Given the description of an element on the screen output the (x, y) to click on. 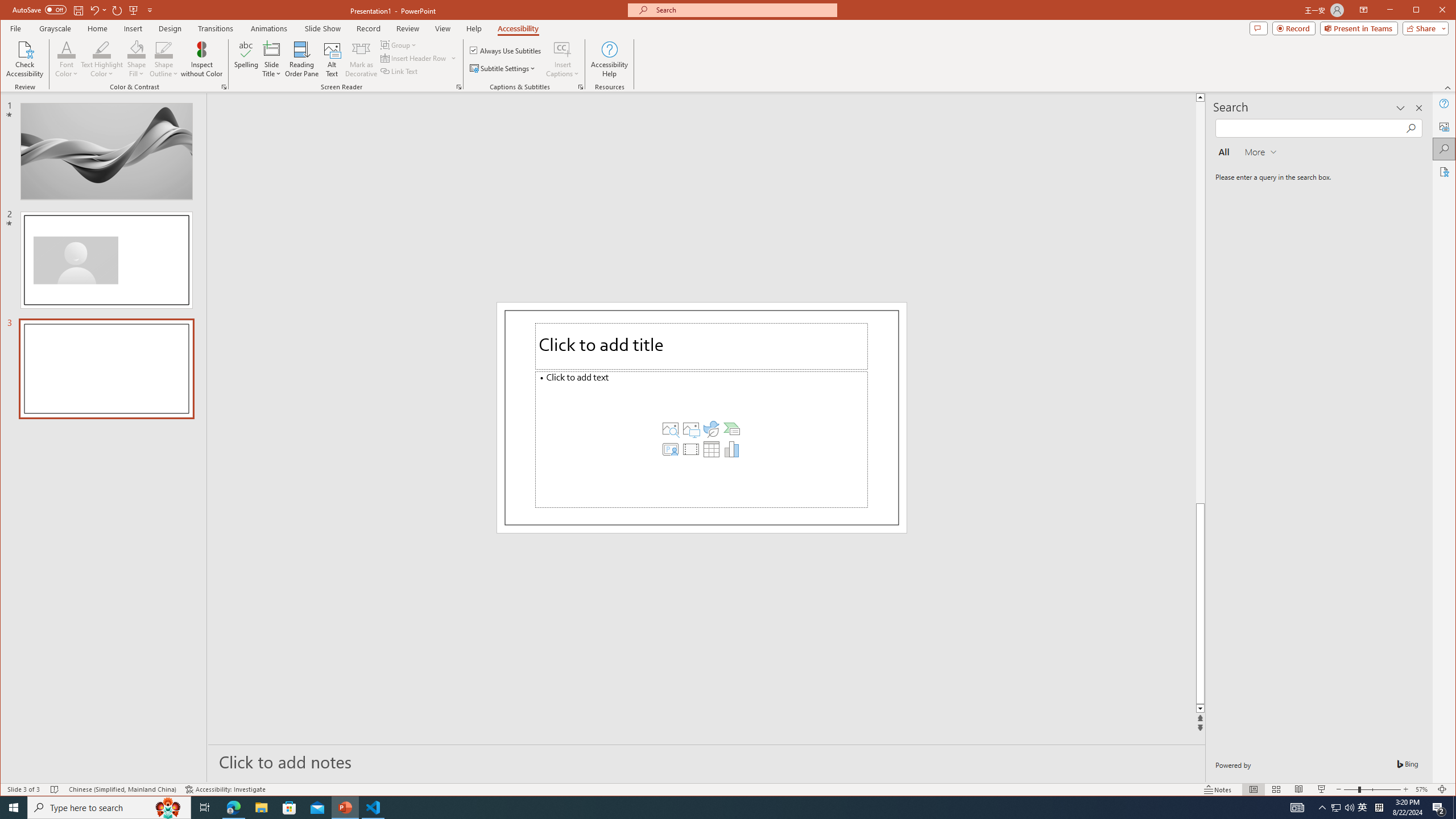
Subtitle Settings (502, 68)
